Given the description of an element on the screen output the (x, y) to click on. 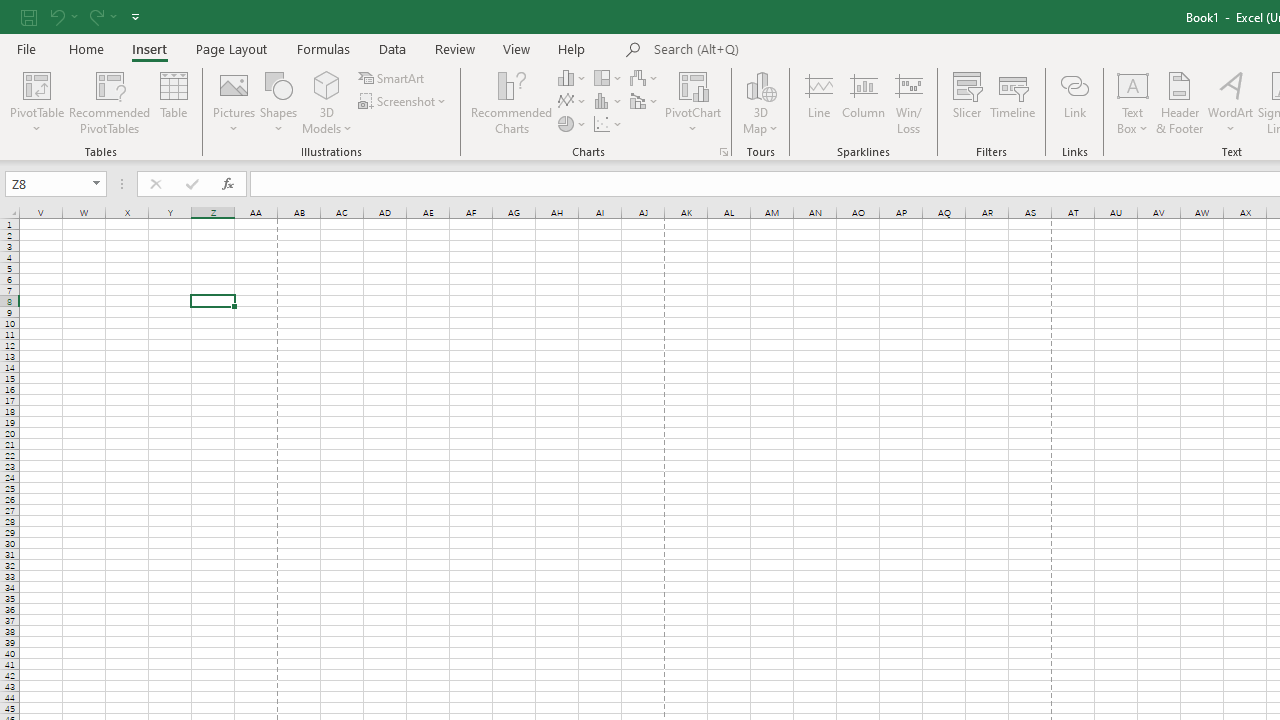
SmartArt... (392, 78)
Link (1074, 102)
PivotChart (693, 84)
Pictures (234, 102)
Table (173, 102)
